Given the description of an element on the screen output the (x, y) to click on. 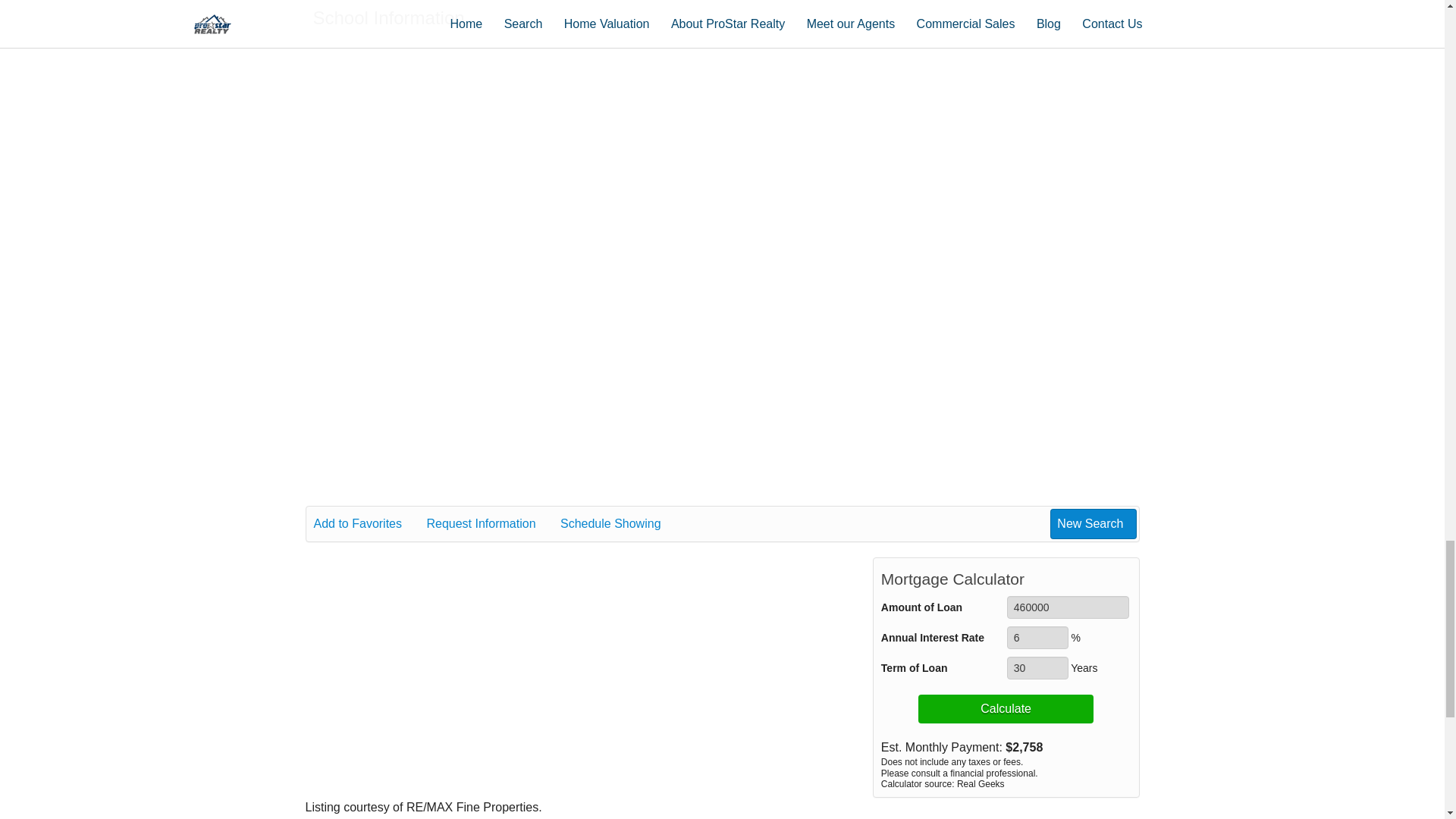
30 (1037, 667)
460000 (1068, 607)
6 (1037, 637)
